Given the description of an element on the screen output the (x, y) to click on. 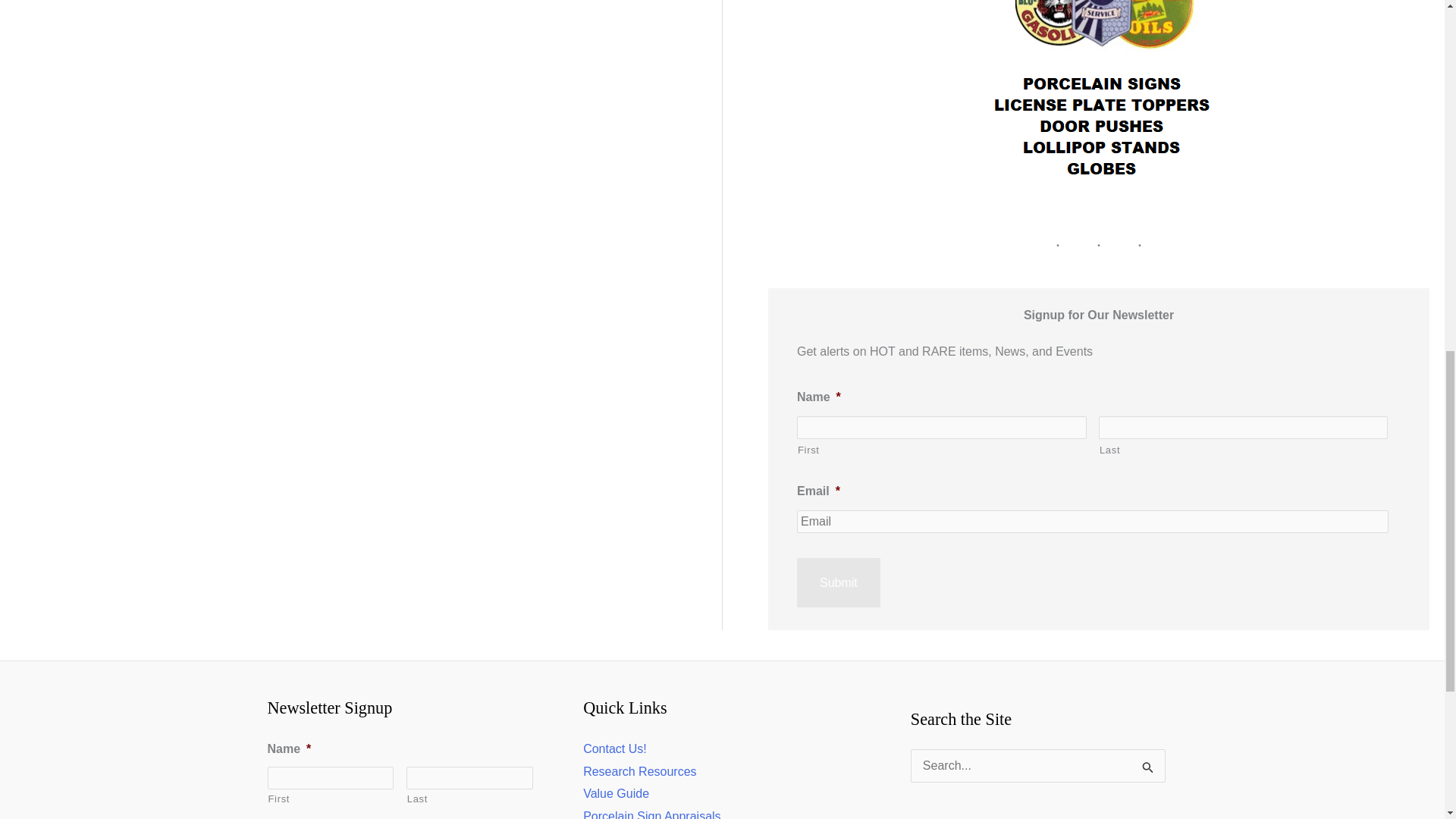
Submit (838, 582)
